Given the description of an element on the screen output the (x, y) to click on. 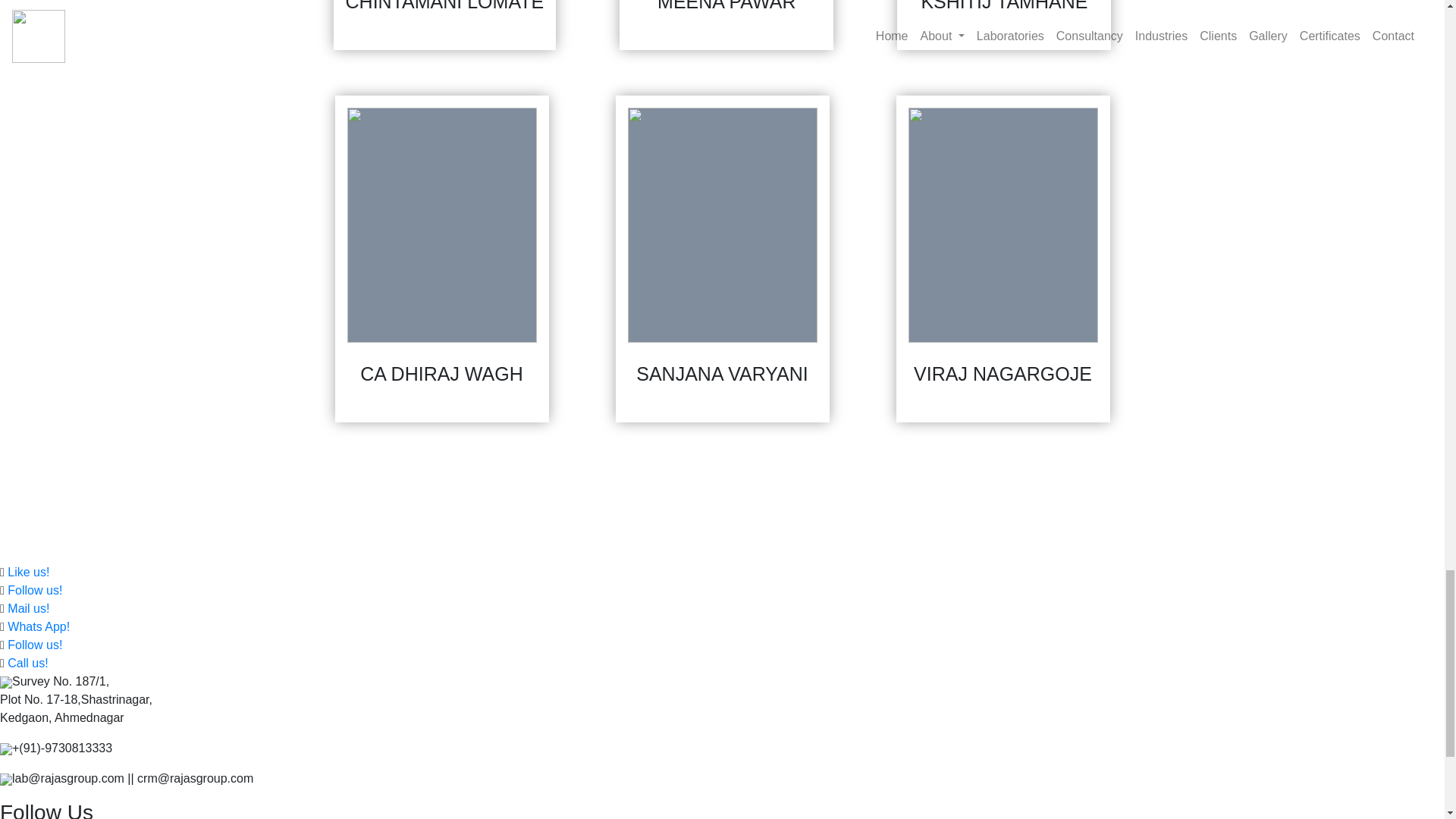
Follow us! (34, 644)
Whats App! (38, 626)
Follow us! (34, 590)
Call us! (27, 662)
Like us! (28, 571)
Mail us! (28, 608)
